Given the description of an element on the screen output the (x, y) to click on. 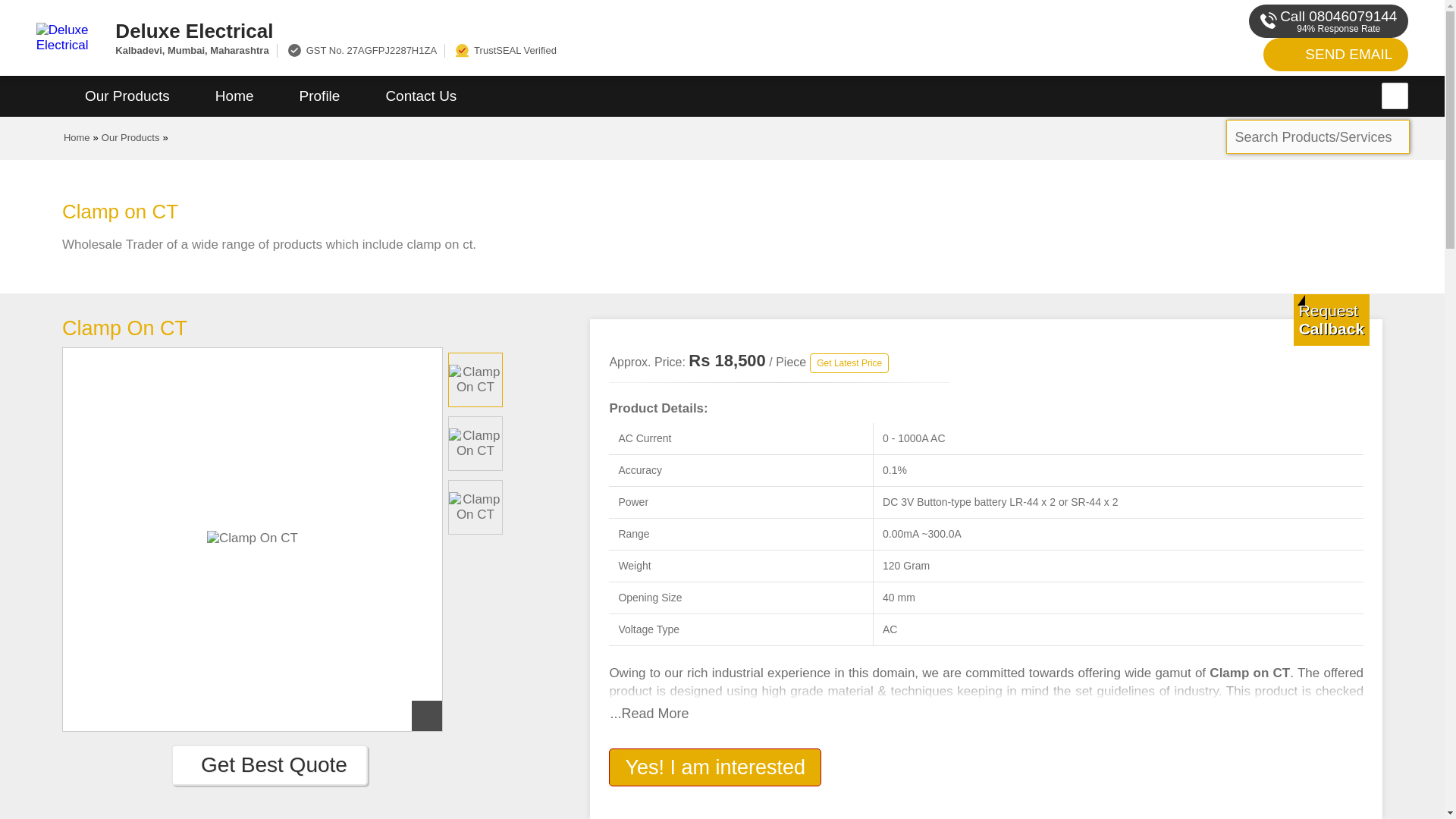
Get a Call from us (1332, 319)
Our Products (127, 96)
Deluxe Electrical (552, 31)
